Given the description of an element on the screen output the (x, y) to click on. 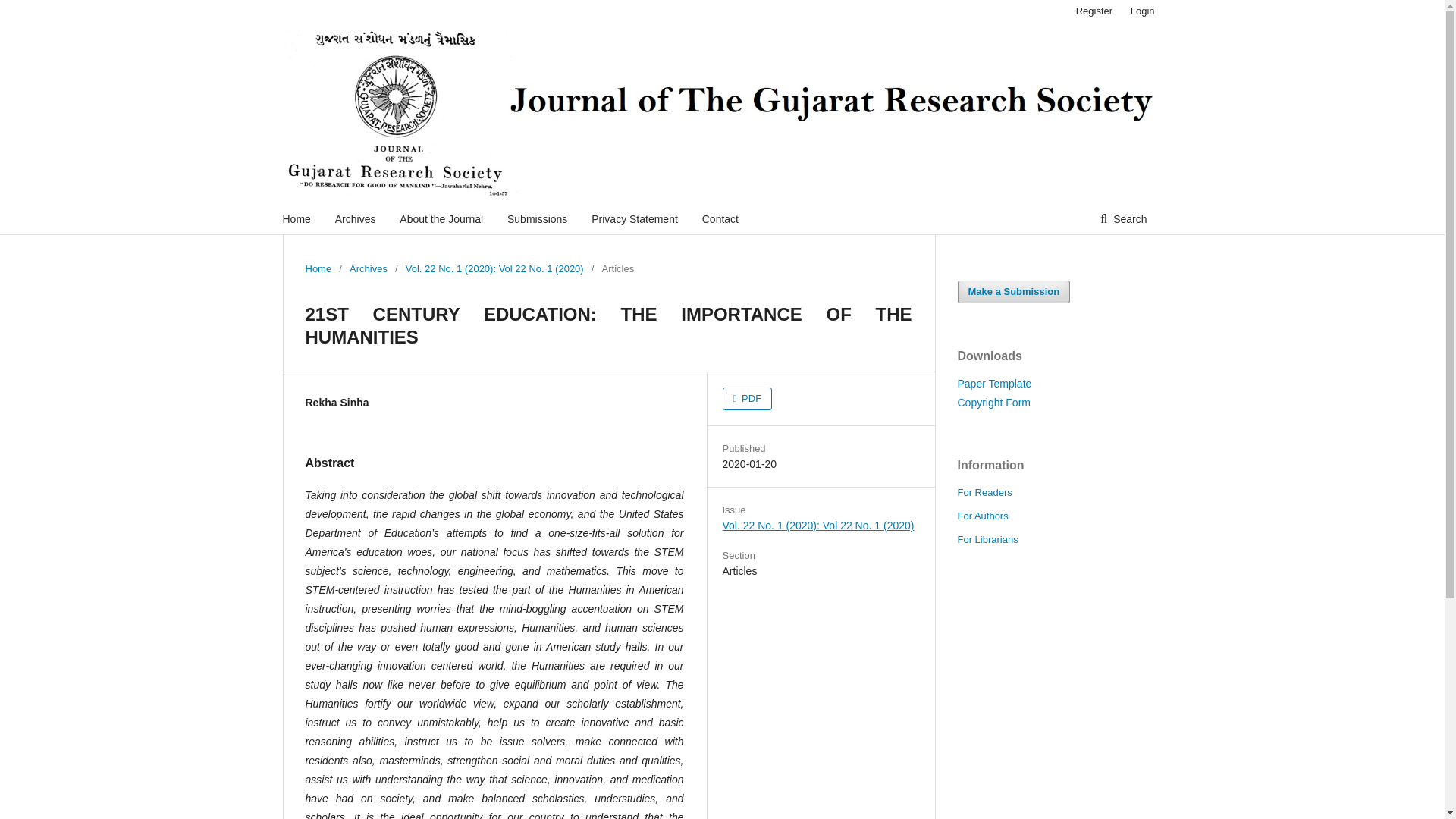
About the Journal (440, 218)
PDF (746, 398)
Privacy Statement (634, 218)
Register (1093, 11)
Home (296, 218)
Search (1122, 218)
Copyright Form (992, 402)
For Authors (981, 515)
Home (317, 268)
For Readers (983, 491)
